Given the description of an element on the screen output the (x, y) to click on. 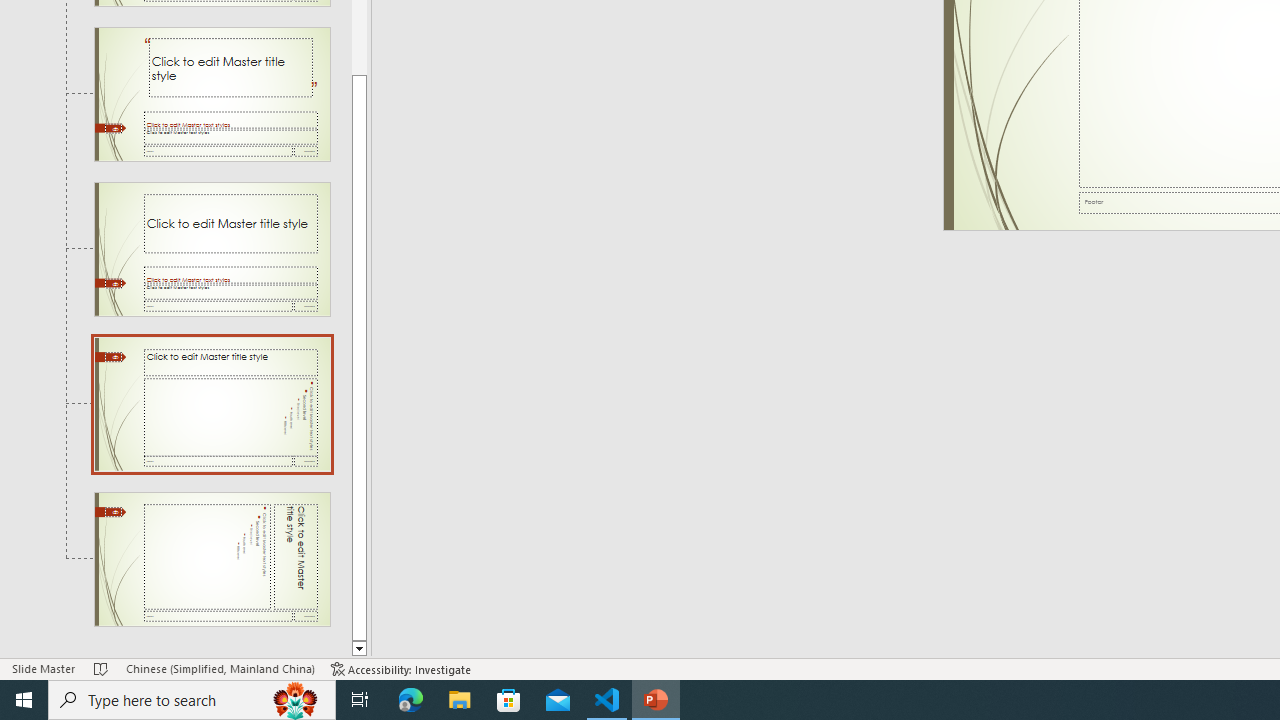
Slide Title and Vertical Text Layout: used by no slides (212, 403)
Slide True or False Layout: used by no slides (212, 249)
Slide Vertical Title and Text Layout: used by no slides (212, 559)
Slide Quote Name Card Layout: used by no slides (212, 94)
